Given the description of an element on the screen output the (x, y) to click on. 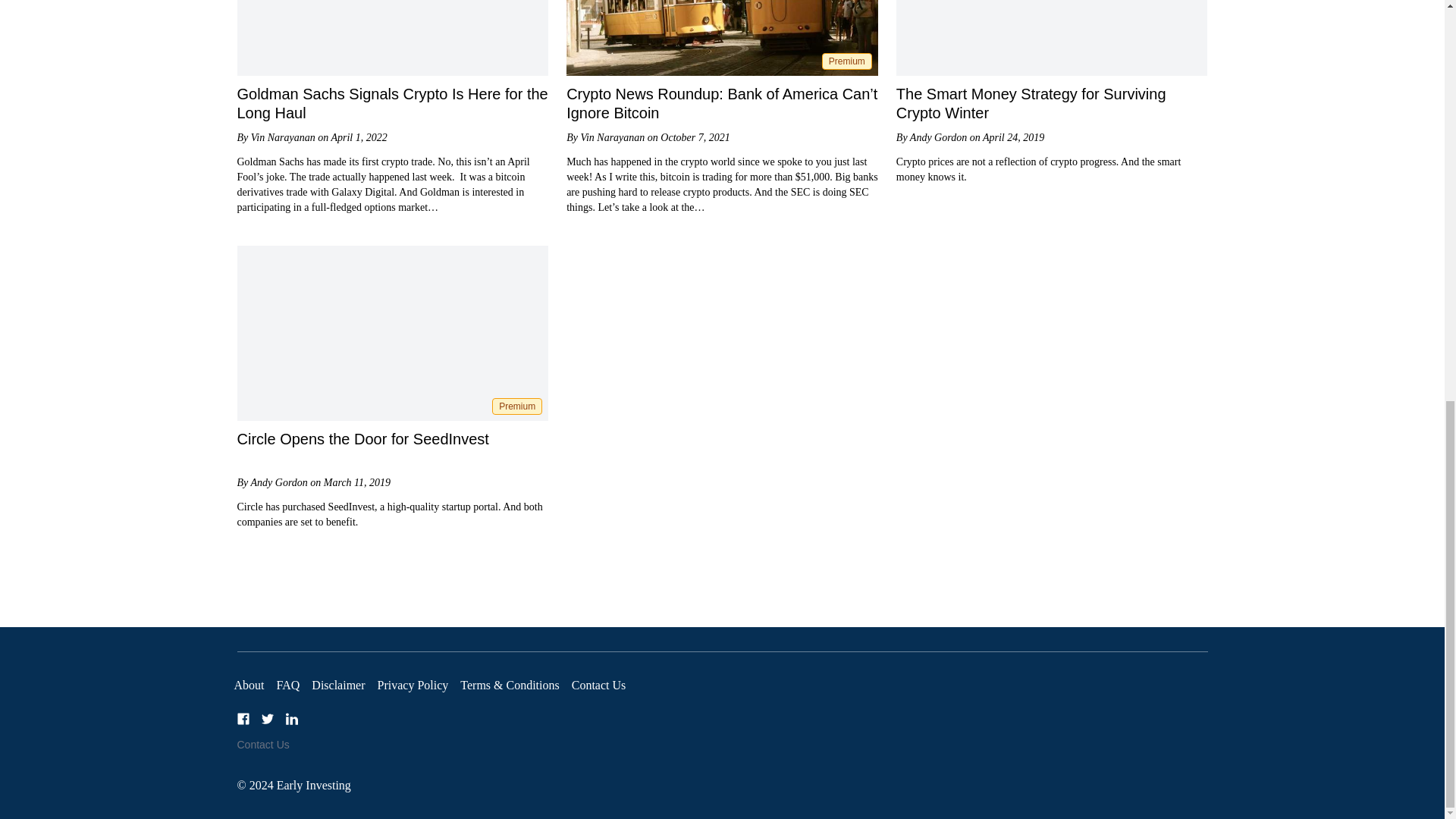
About (247, 684)
The Smart Money Strategy for Surviving Crypto Winter (1031, 103)
Circle Opens the Door for SeedInvest (361, 438)
Goldman Sachs Signals Crypto Is Here for the Long Haul (391, 103)
